Given the description of an element on the screen output the (x, y) to click on. 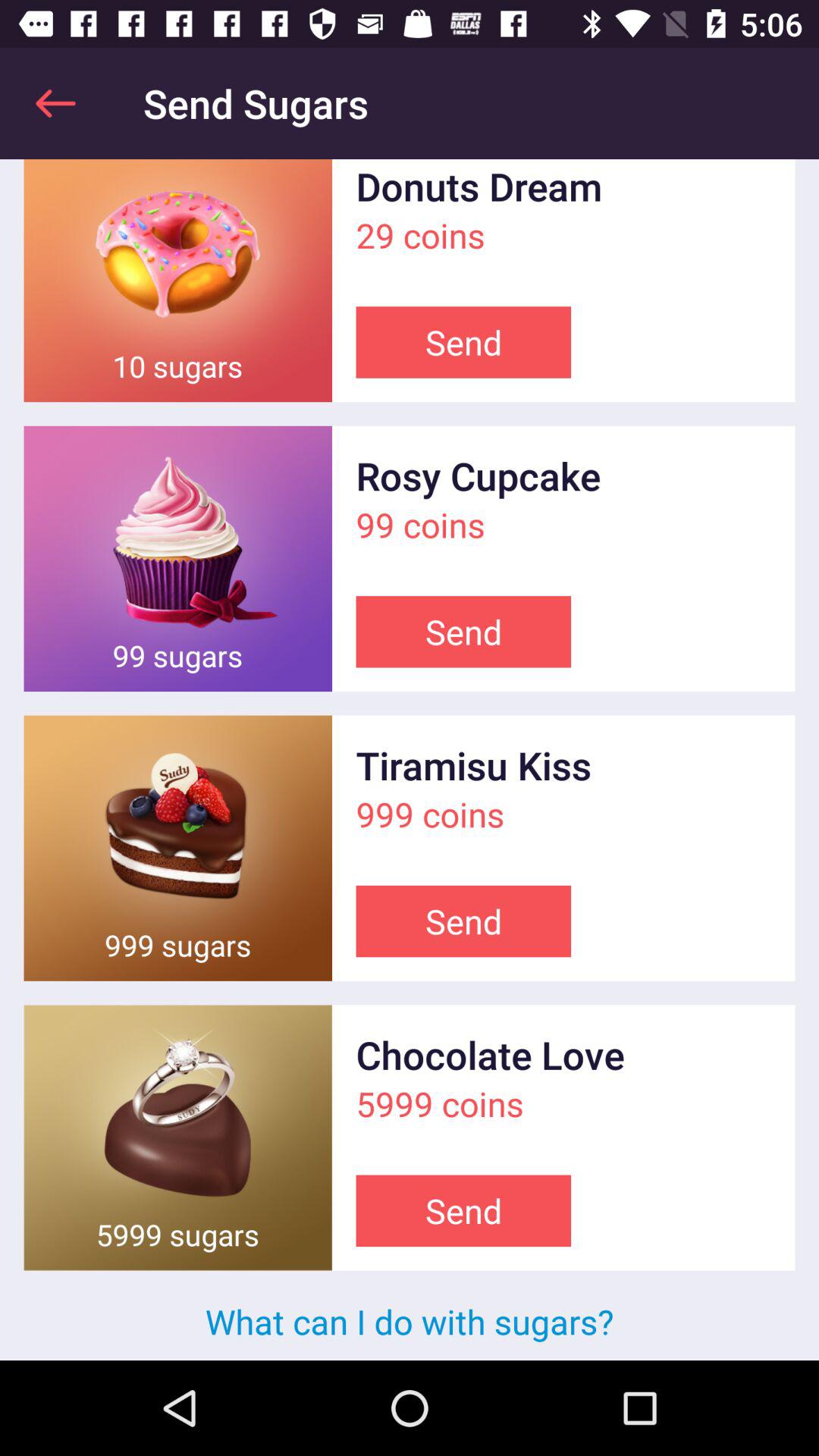
select option (177, 848)
